Given the description of an element on the screen output the (x, y) to click on. 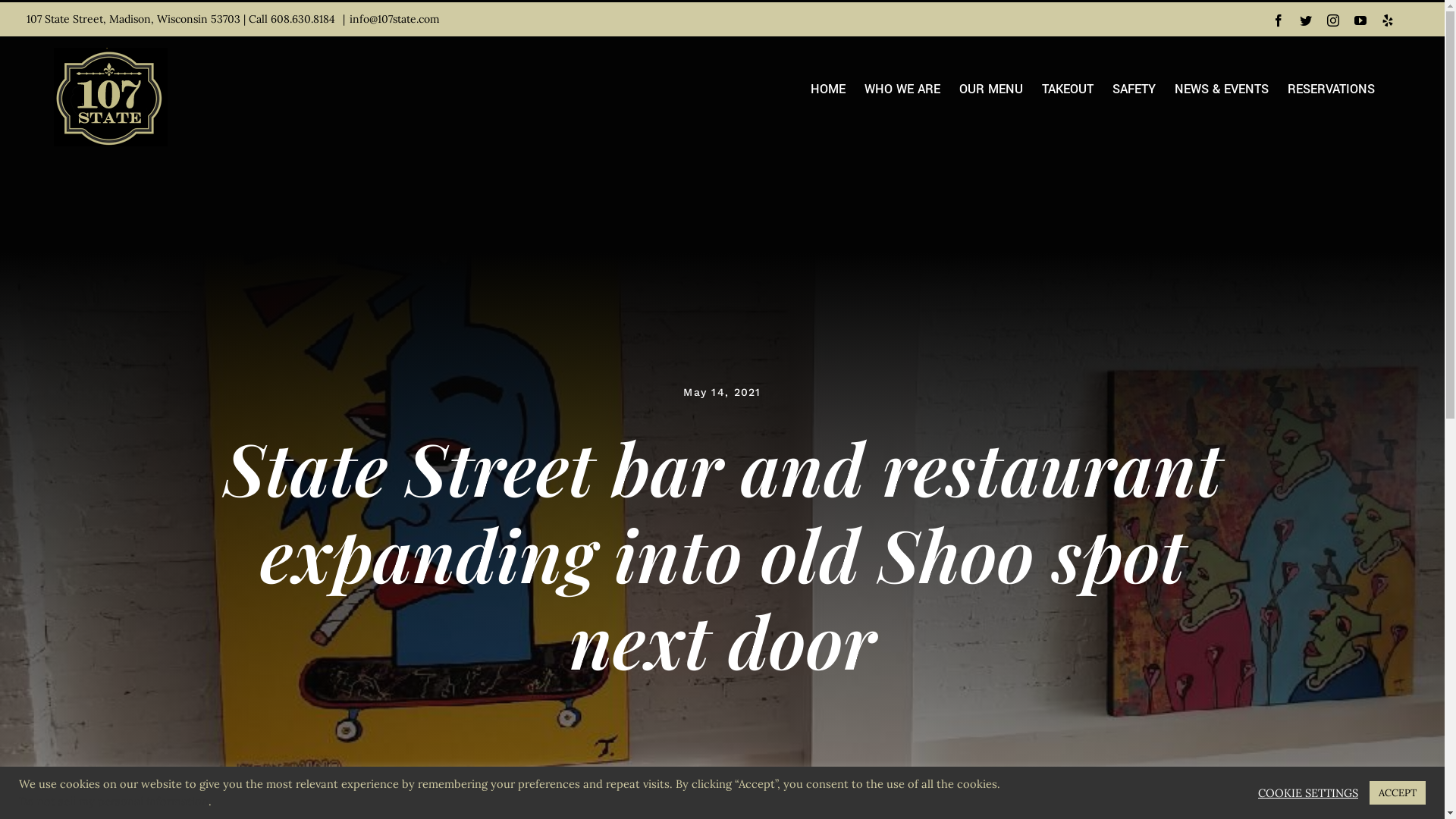
COOKIE SETTINGS Element type: text (1308, 792)
Twitter Element type: text (1305, 19)
ACCEPT Element type: text (1397, 792)
Facebook Element type: text (1278, 19)
WHO WE ARE Element type: text (902, 89)
Do not sell my personal information Element type: text (113, 800)
Instagram Element type: text (1333, 19)
HOME Element type: text (827, 89)
OUR MENU Element type: text (990, 89)
info@107state.com Element type: text (394, 18)
TAKEOUT Element type: text (1067, 89)
SAFETY Element type: text (1133, 89)
608.630.8184 Element type: text (304, 18)
NEWS & EVENTS Element type: text (1221, 89)
RESERVATIONS Element type: text (1330, 89)
Yelp Element type: text (1387, 19)
YouTube Element type: text (1360, 19)
